Given the description of an element on the screen output the (x, y) to click on. 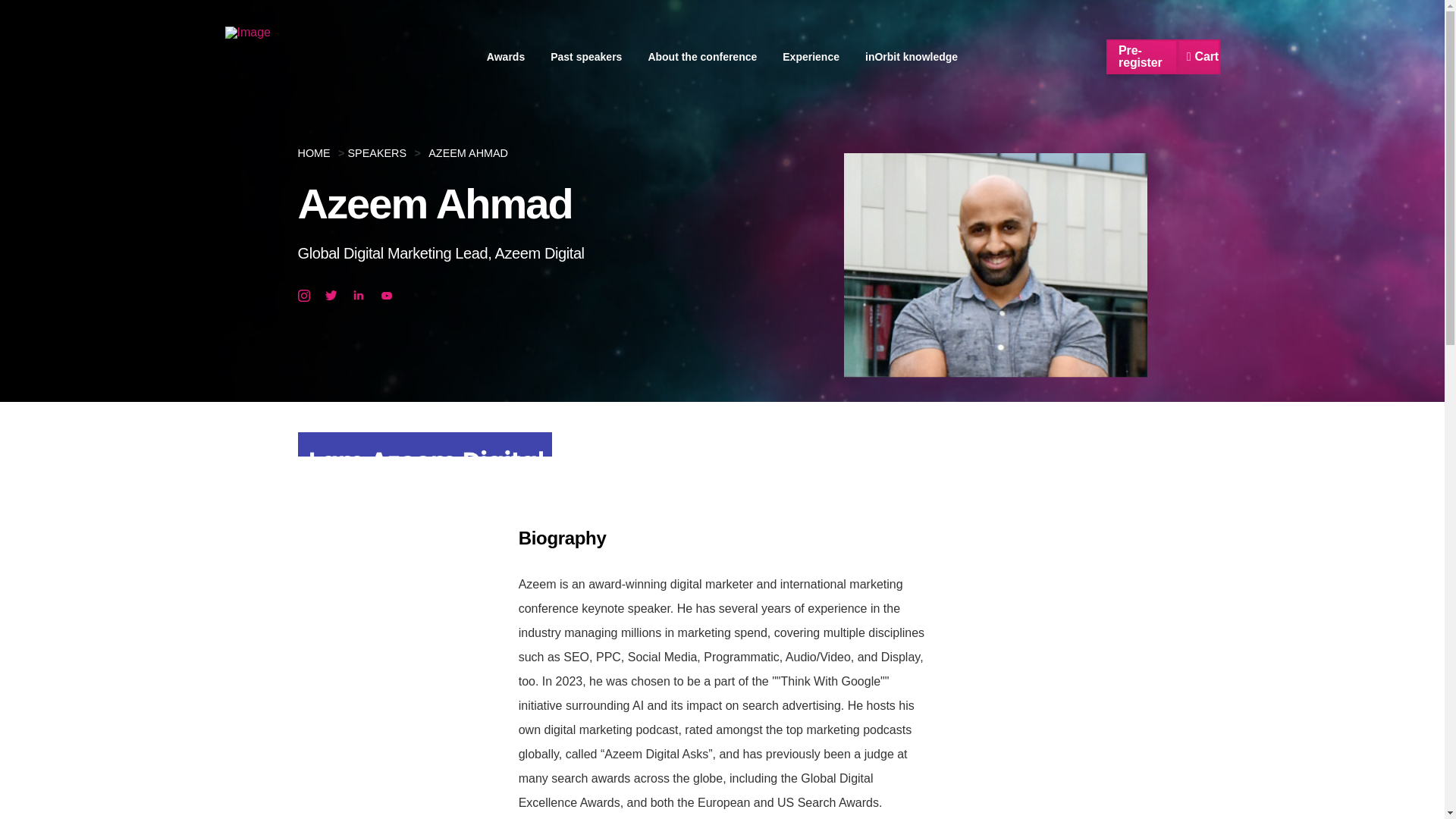
twitter (330, 290)
youtube (386, 290)
Pre-register (1141, 56)
linkedin (358, 290)
About the conference (702, 56)
instagram (302, 290)
inOrbit knowledge (911, 56)
Cart (1198, 56)
